Given the description of an element on the screen output the (x, y) to click on. 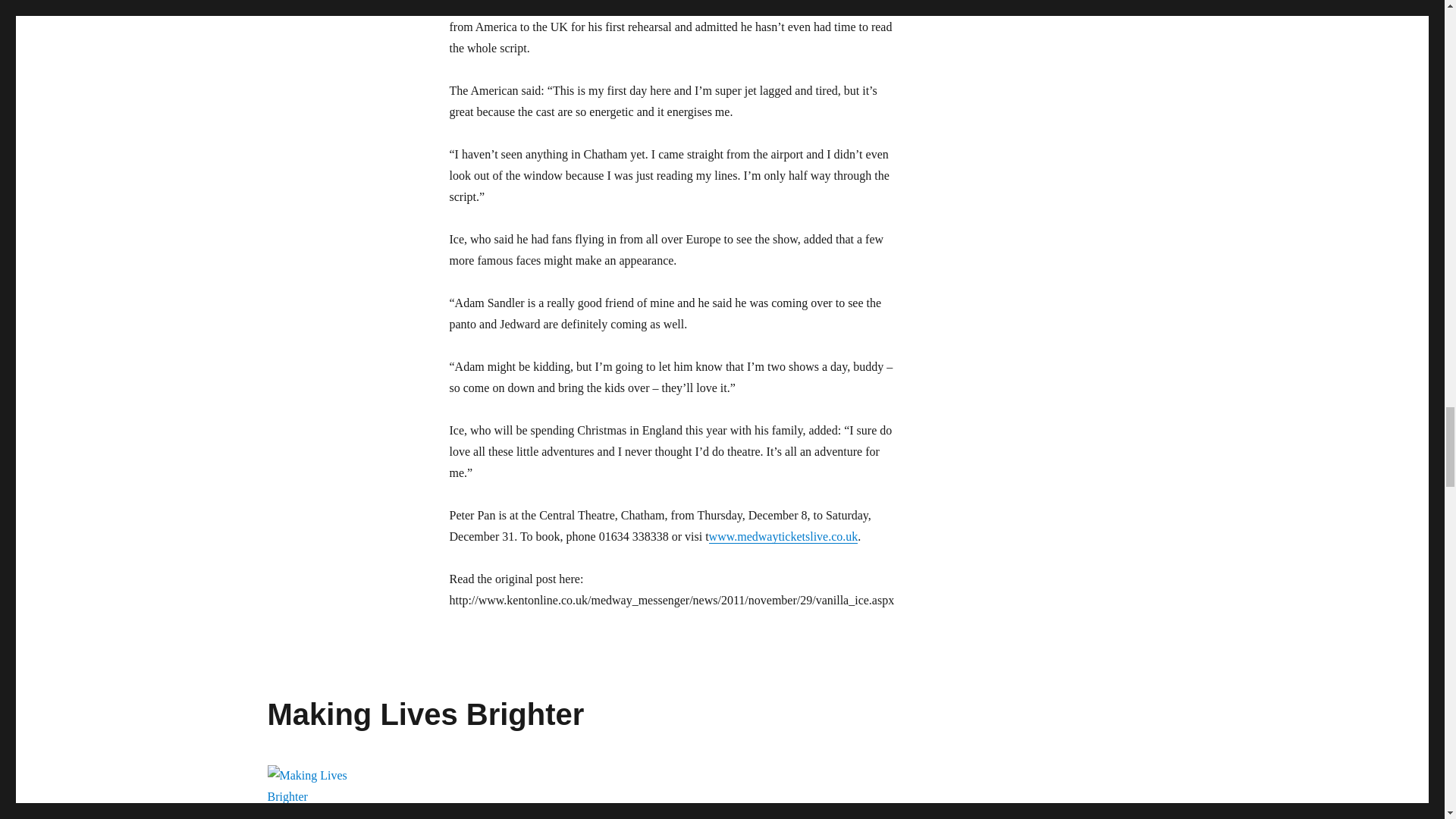
www.medwayticketslive.co.uk (784, 535)
Making Lives Brighter (424, 714)
